Given the description of an element on the screen output the (x, y) to click on. 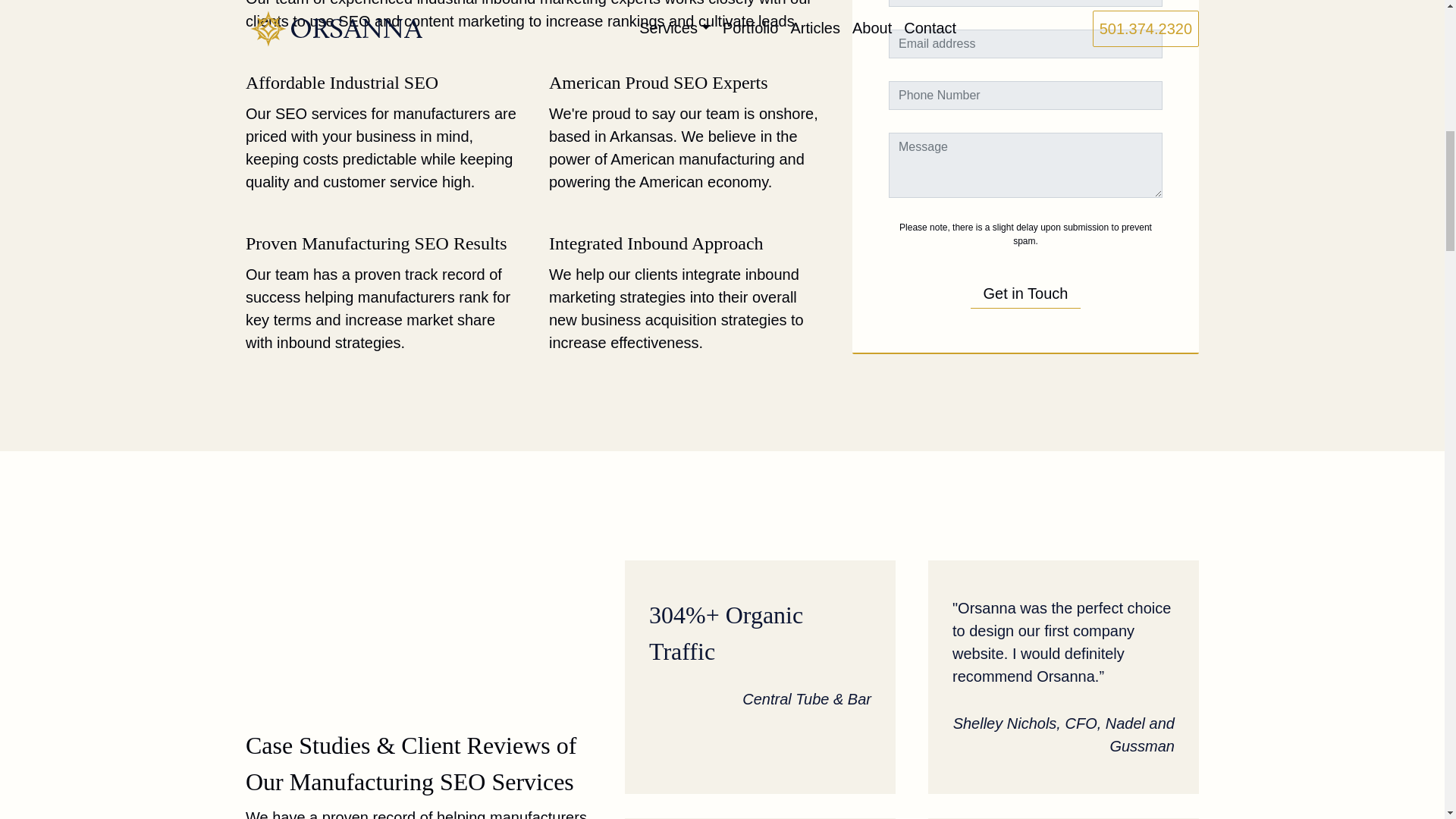
Manufacturing SEO Case Study (1063, 676)
Manufacturing SEO Case Study (759, 676)
Get in Touch (1025, 282)
